Given the description of an element on the screen output the (x, y) to click on. 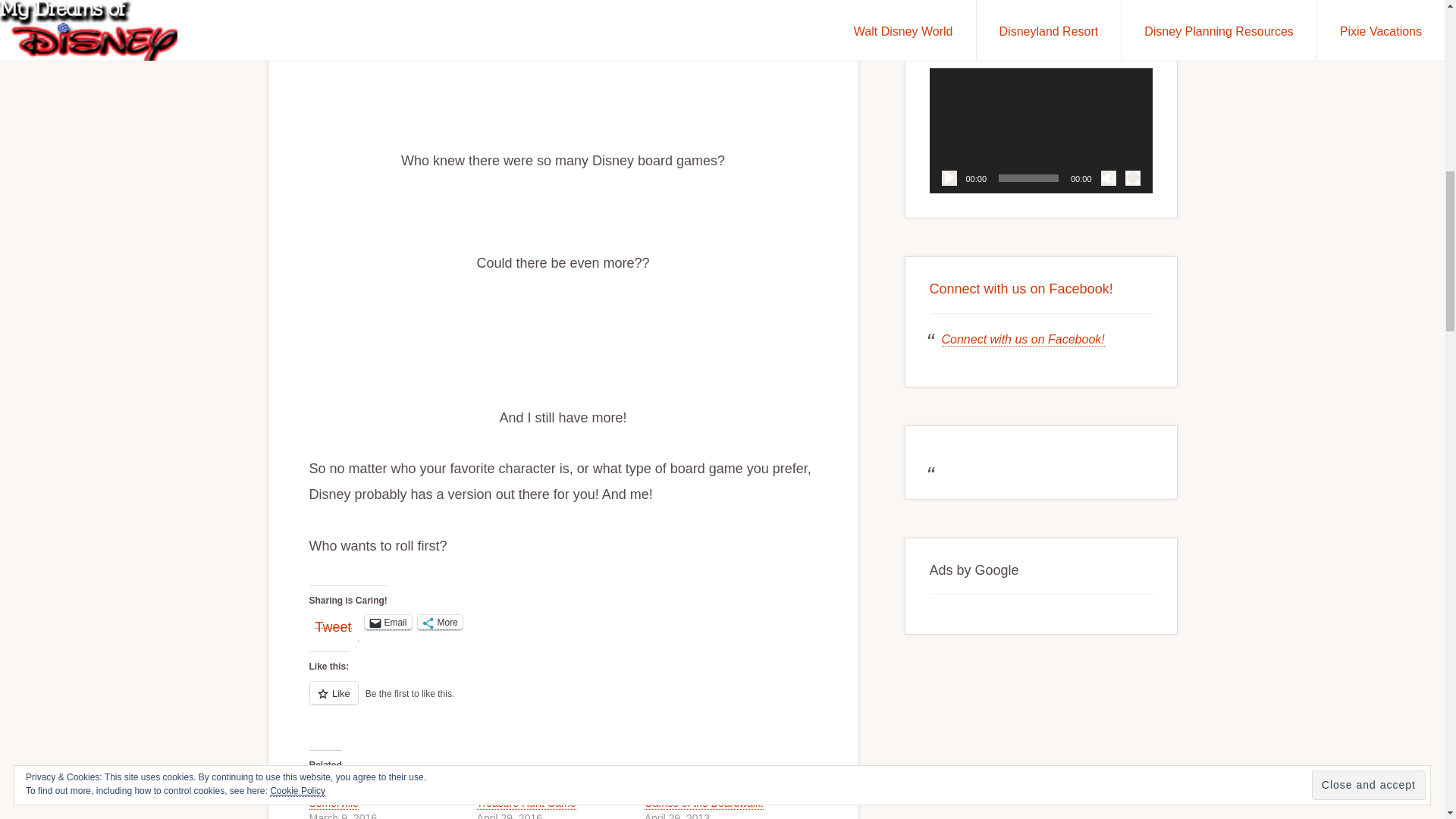
Click to email a link to a friend (388, 622)
20,000 Leagues: Deep Sea Treasure Hunt Game (541, 795)
Like or Reblog (562, 701)
